Given the description of an element on the screen output the (x, y) to click on. 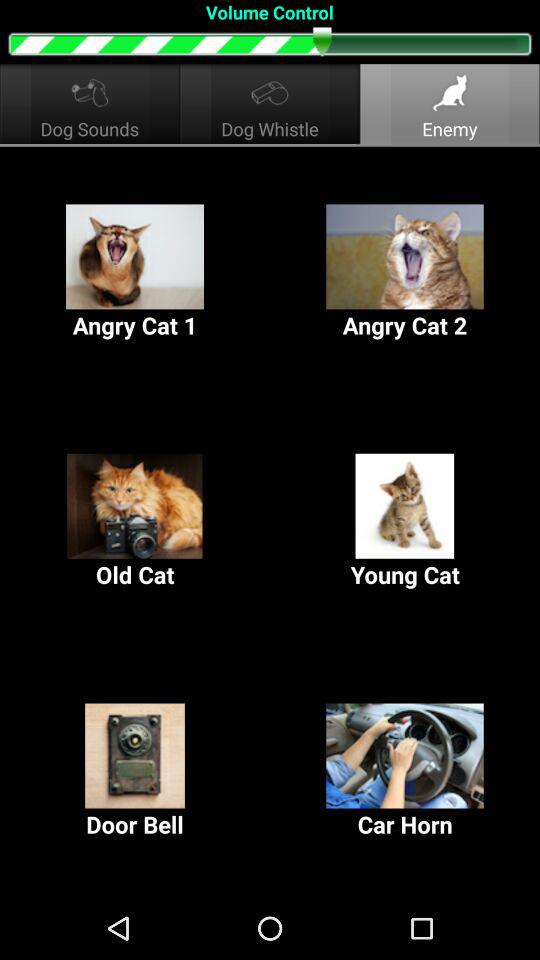
click the item above door bell item (135, 521)
